Given the description of an element on the screen output the (x, y) to click on. 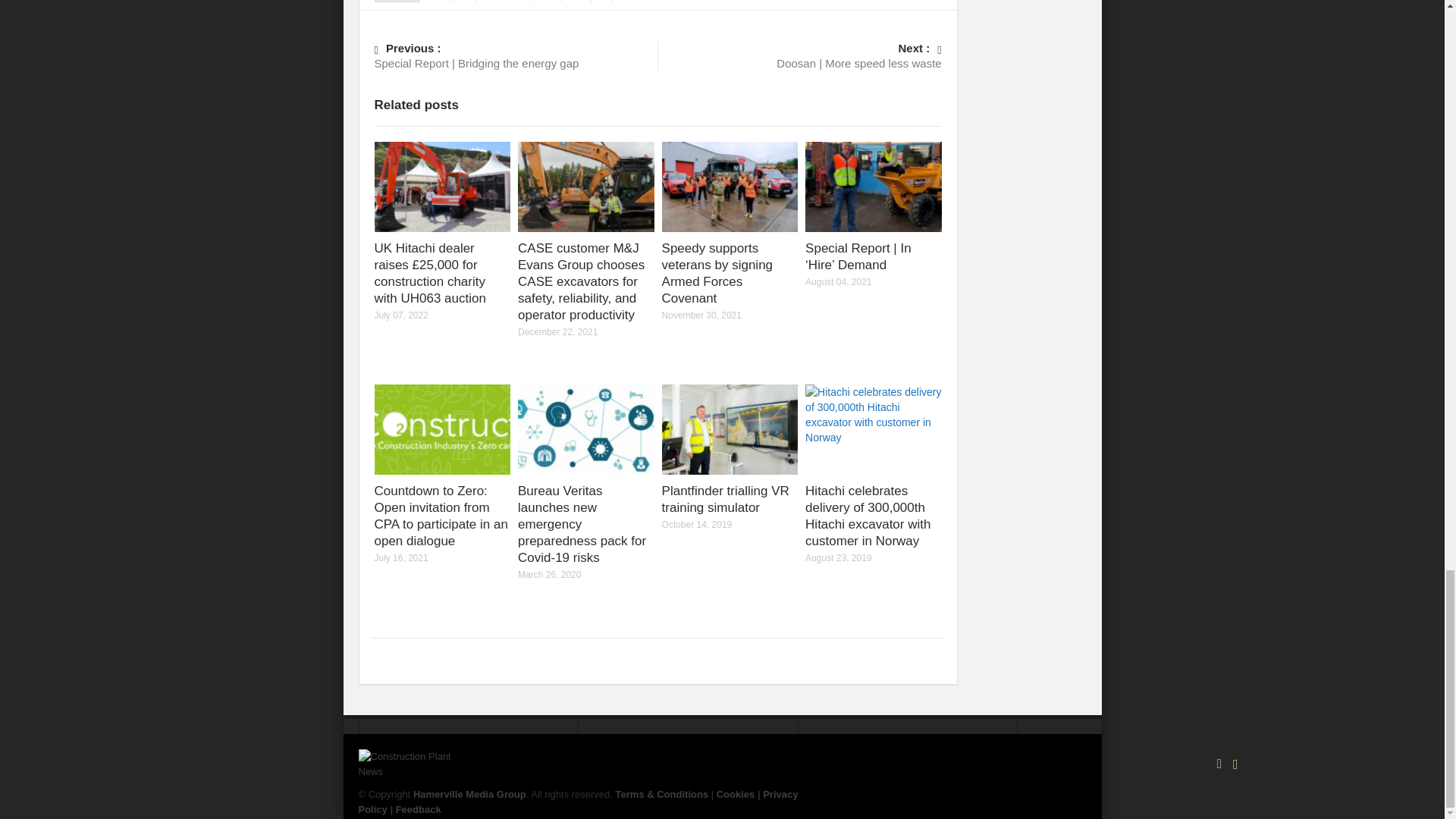
0 (443, 1)
